Given the description of an element on the screen output the (x, y) to click on. 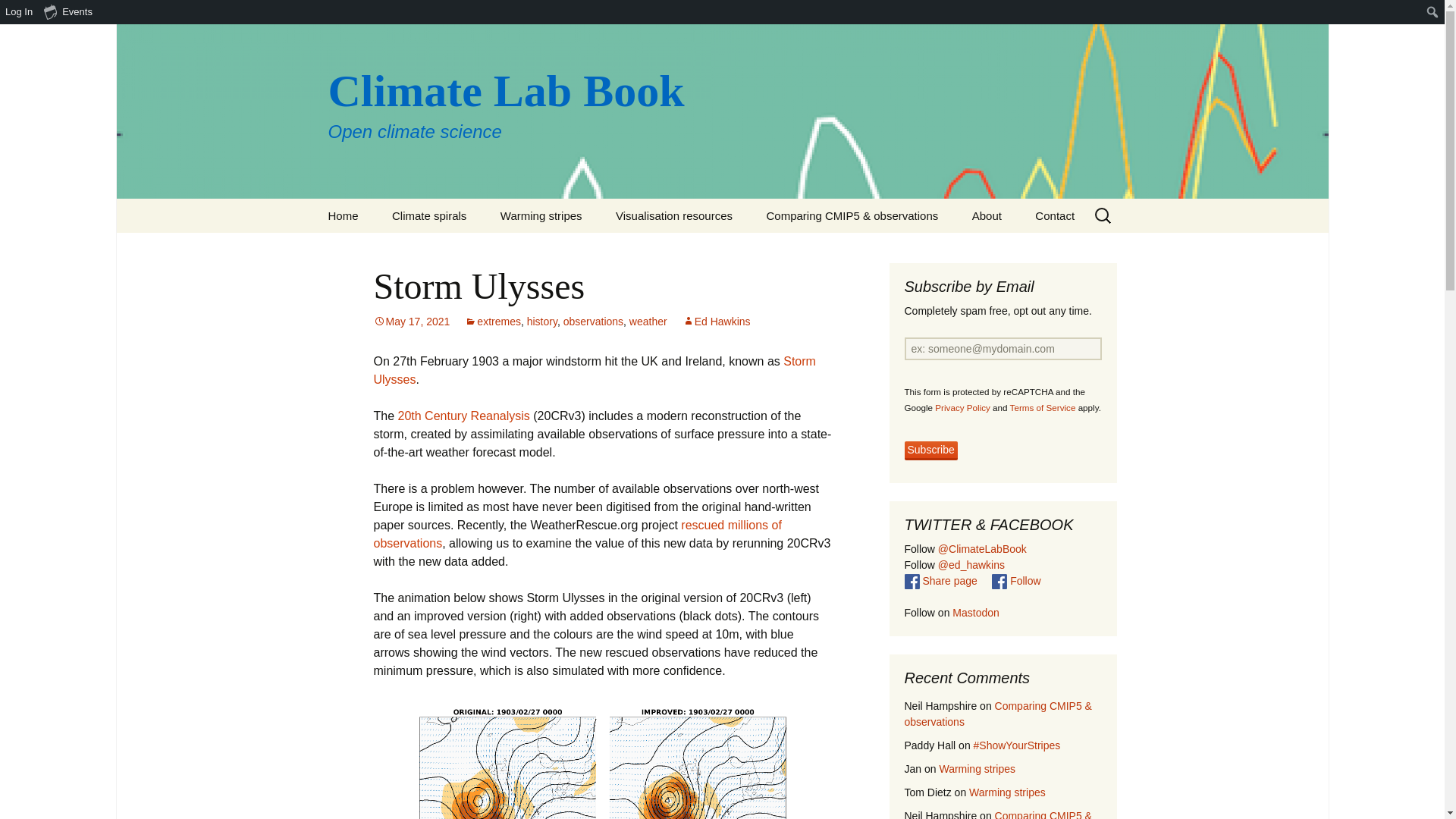
Log In (19, 12)
20th Century Reanalysis (463, 415)
About (986, 215)
extremes (492, 321)
May 17, 2021 (410, 321)
Climate spirals (429, 215)
history (542, 321)
weather (647, 321)
Subscribe (930, 450)
Storm Ulysses (593, 369)
Home (342, 215)
rescued millions of observations (576, 533)
Visualisation resources (673, 215)
